Given the description of an element on the screen output the (x, y) to click on. 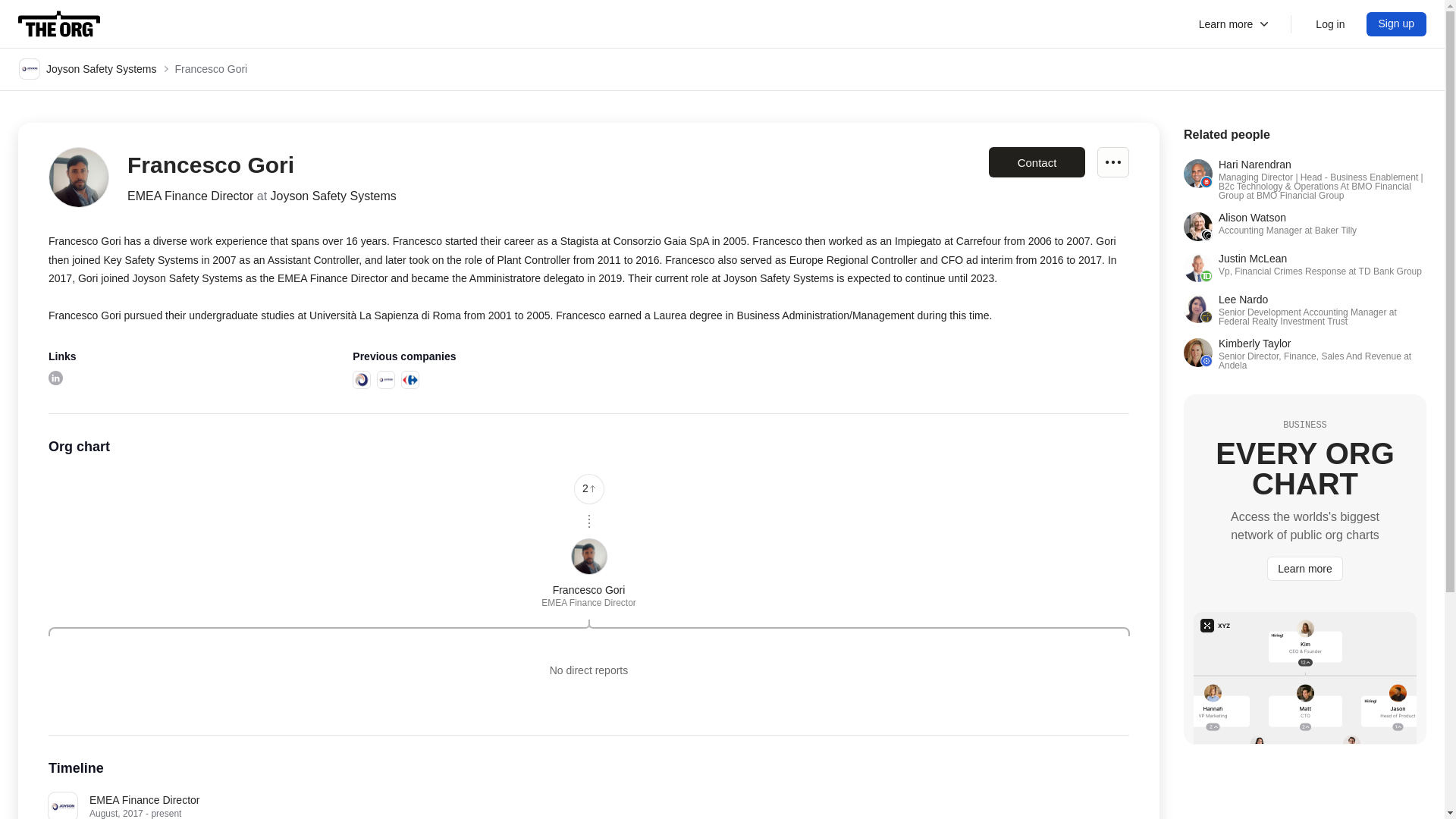
Carrefour (410, 380)
Sign up to The Org (1396, 24)
Join, edit and report menu (1304, 267)
Sign up (1113, 162)
2 (1304, 226)
Learn more (1396, 24)
